Given the description of an element on the screen output the (x, y) to click on. 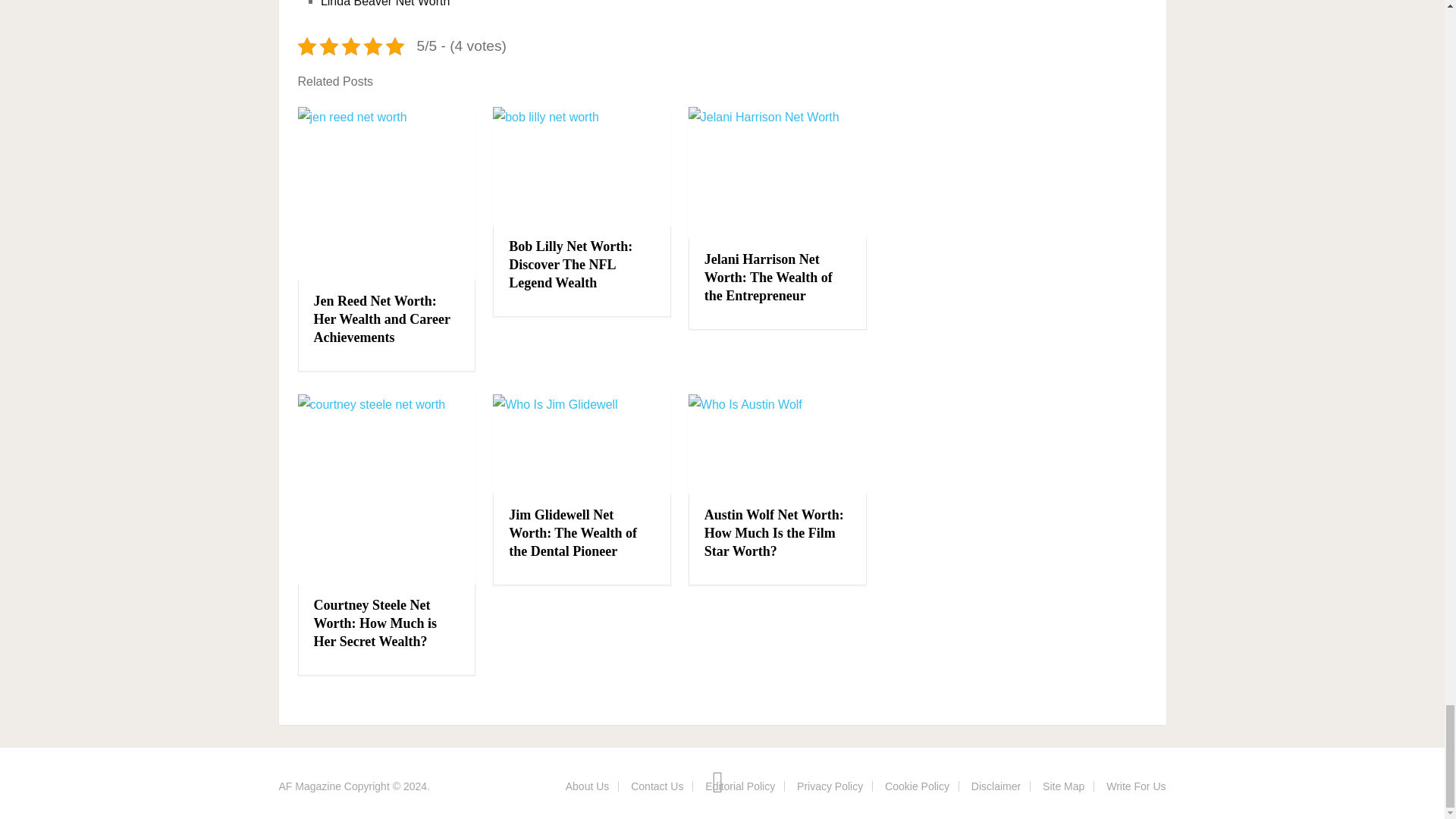
Jen Reed Net Worth: Her Wealth and Career Achievements (386, 193)
Jelani Harrison Net Worth: The Wealth of the Entrepreneur (777, 172)
Jim Glidewell Net Worth: The Wealth of the Dental Pioneer (582, 443)
Linda Beaver Net Worth (384, 3)
Courtney Steele Net Worth: How Much is Her Secret Wealth? (376, 623)
Bob Lilly Net Worth: Discover The NFL Legend Wealth (569, 264)
Bob Lilly Net Worth: Discover The NFL Legend Wealth (582, 166)
Courtney Steele Net Worth: How Much is Her Secret Wealth? (386, 488)
Jen Reed Net Worth: Her Wealth and Career Achievements (381, 318)
Jelani Harrison Net Worth: The Wealth of the Entrepreneur (768, 277)
